Given the description of an element on the screen output the (x, y) to click on. 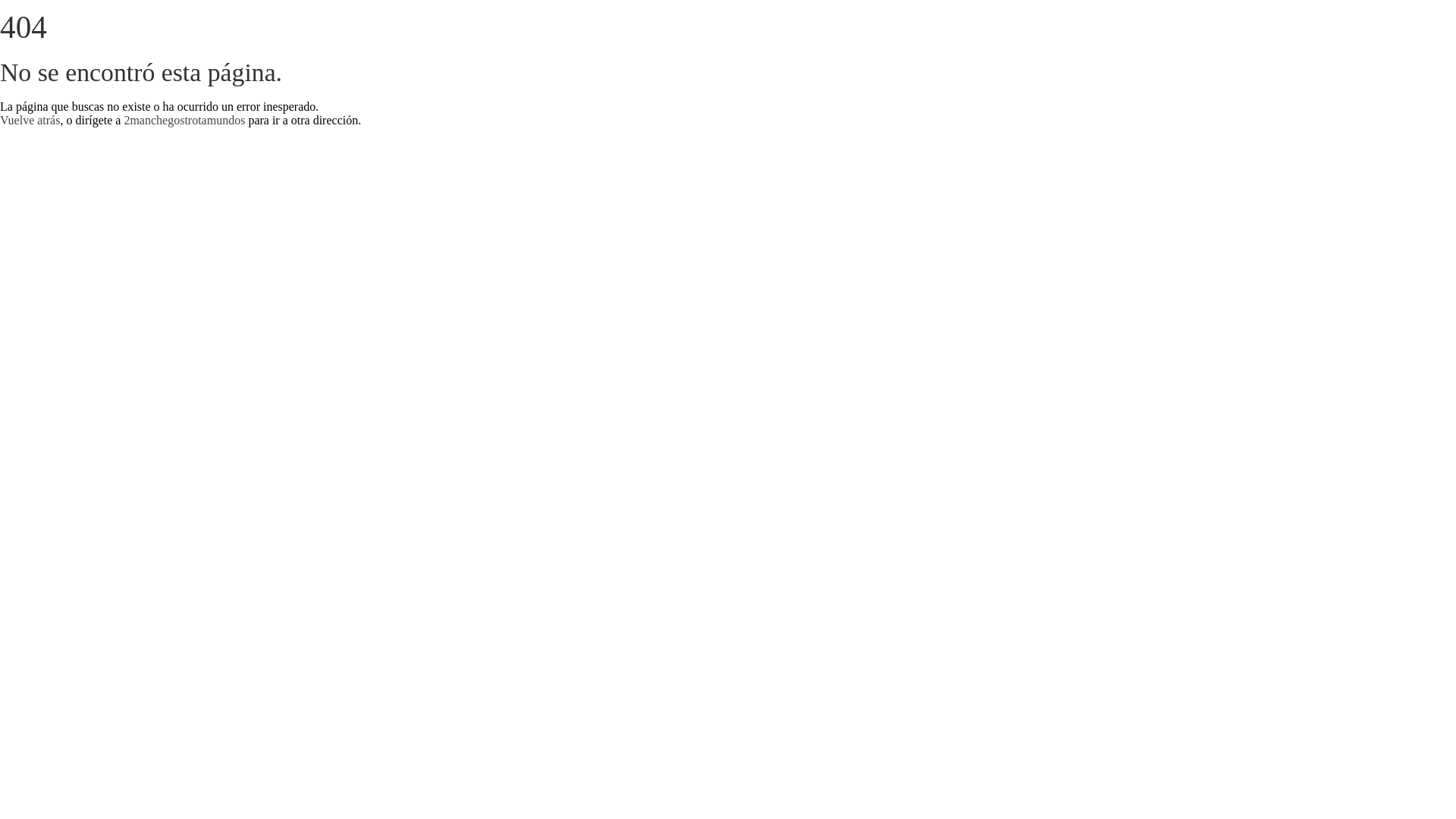
2manchegostrotamundos Element type: text (183, 119)
